Given the description of an element on the screen output the (x, y) to click on. 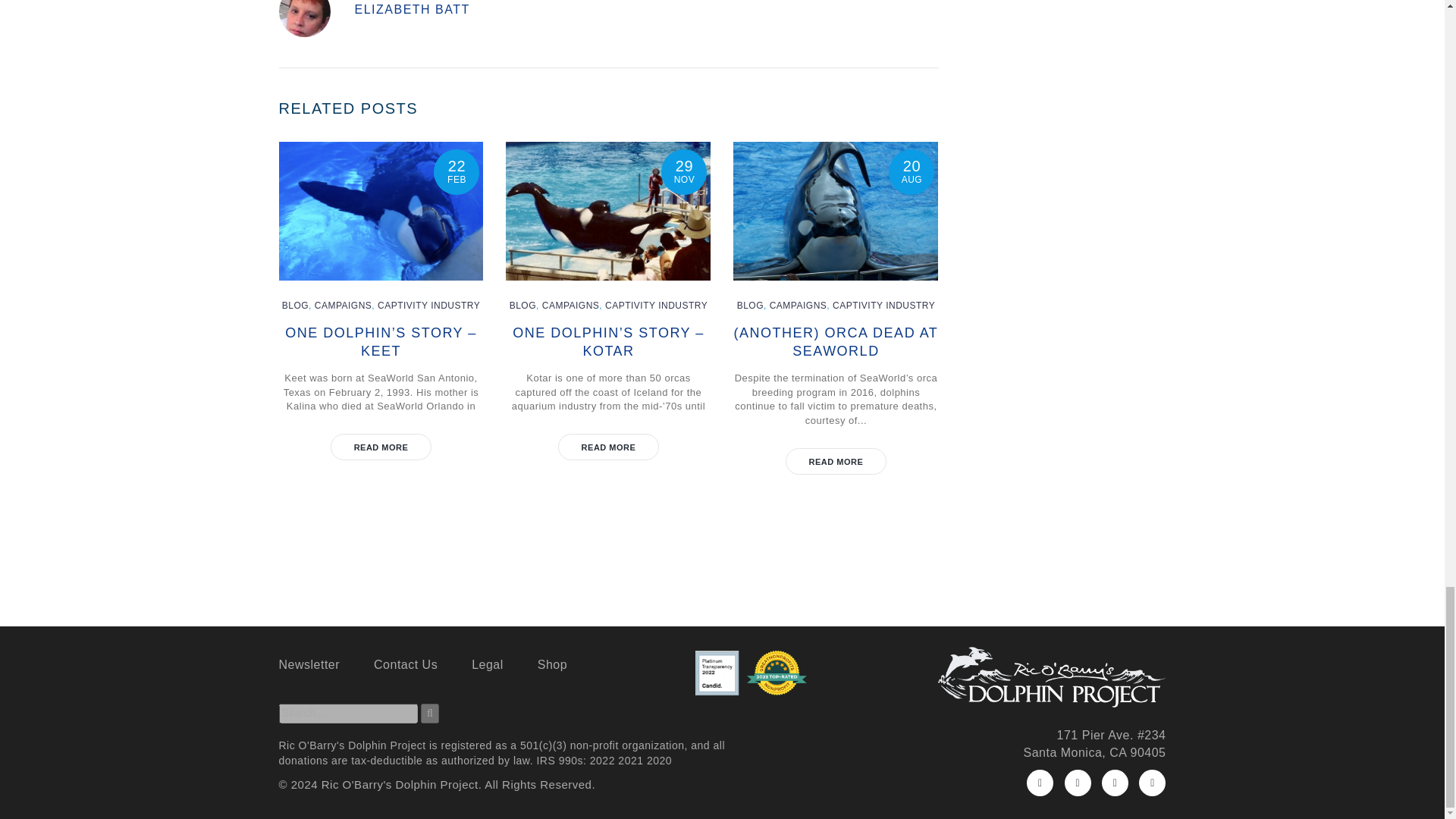
Search... (348, 713)
Facebook (1039, 782)
Twitter (1077, 782)
Vimeo (1152, 782)
Instagram (1115, 782)
